Given the description of an element on the screen output the (x, y) to click on. 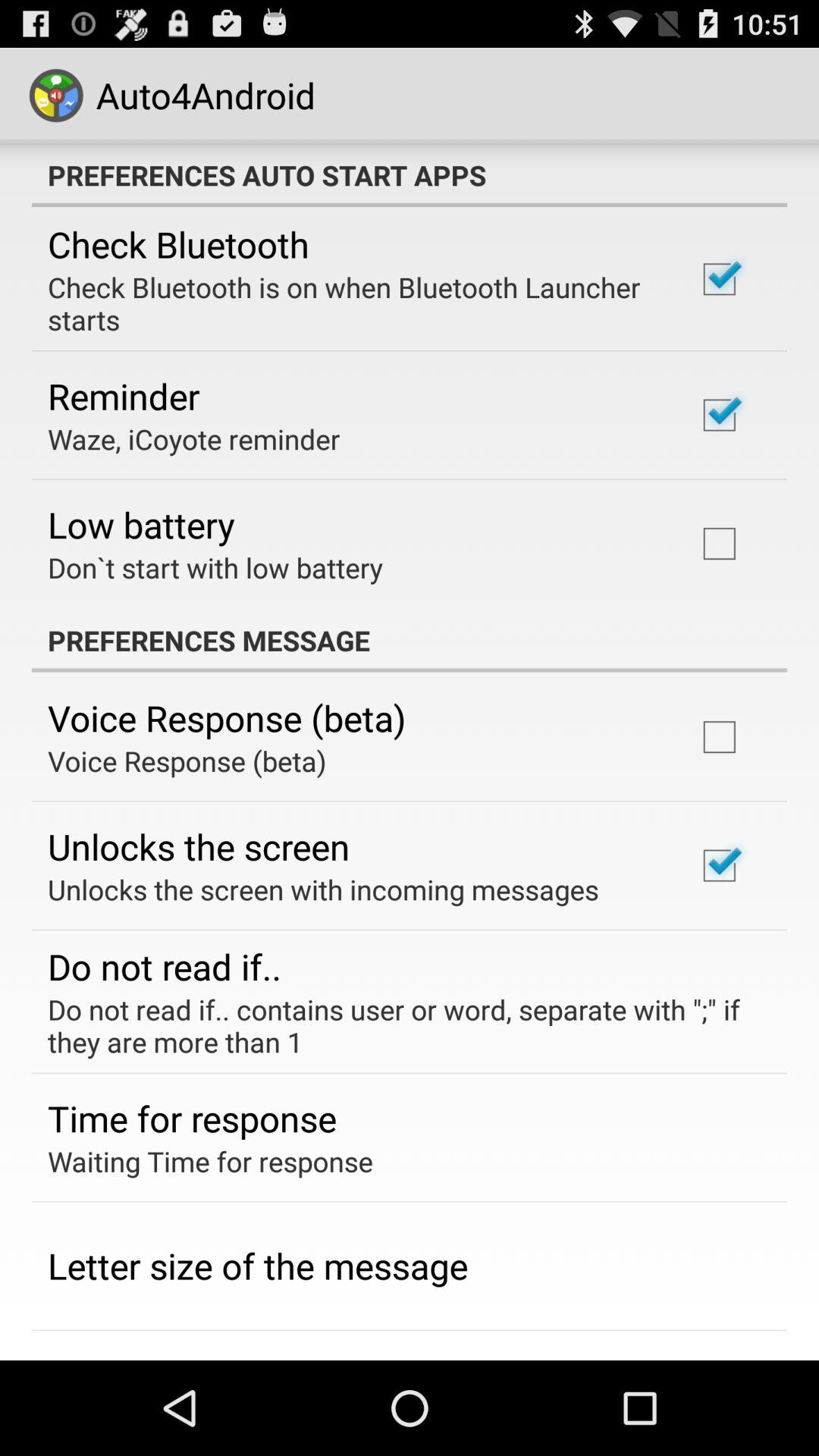
tap app below the don t start app (409, 640)
